Given the description of an element on the screen output the (x, y) to click on. 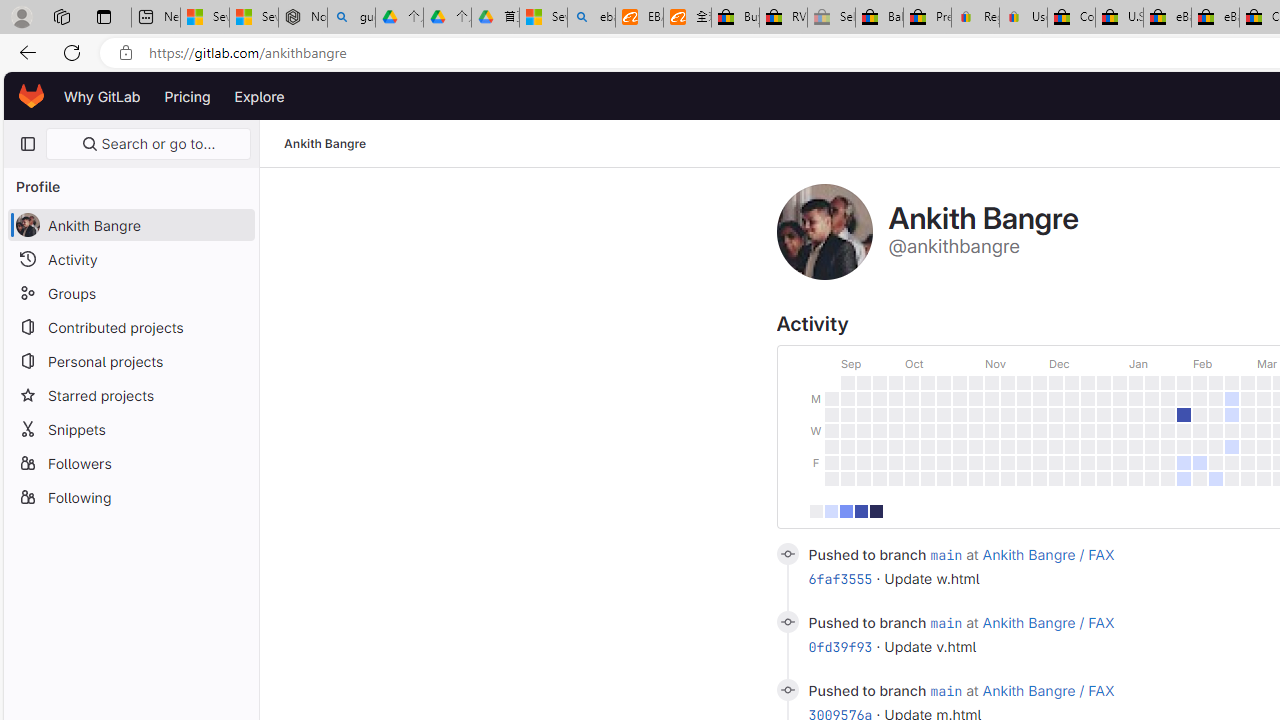
Tab actions menu (104, 16)
Following (130, 496)
30+ contributions (876, 510)
Snippets (130, 428)
